Given the description of an element on the screen output the (x, y) to click on. 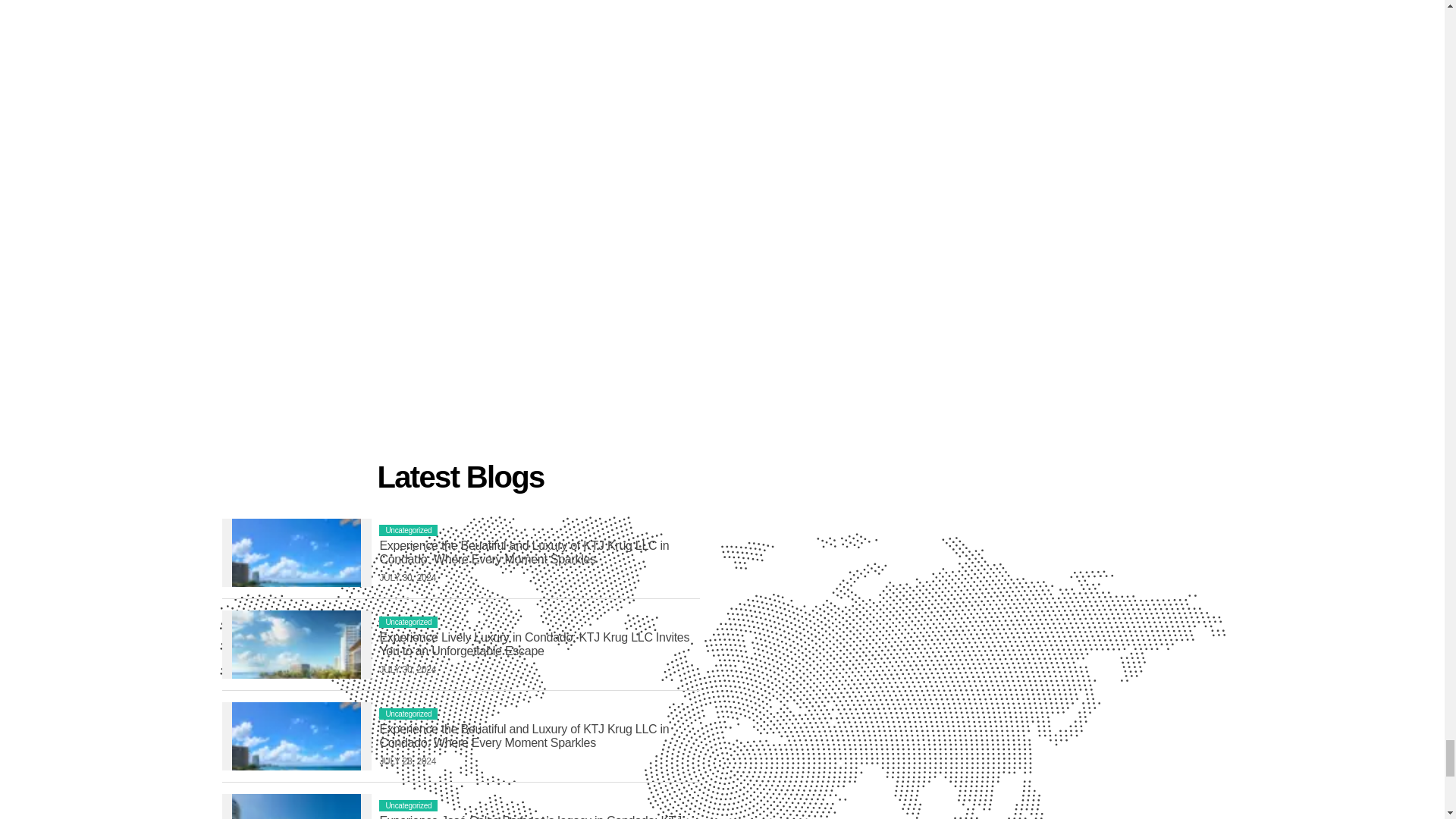
Uncategorized (408, 713)
Uncategorized (408, 530)
Uncategorized (408, 622)
Uncategorized (408, 805)
